Given the description of an element on the screen output the (x, y) to click on. 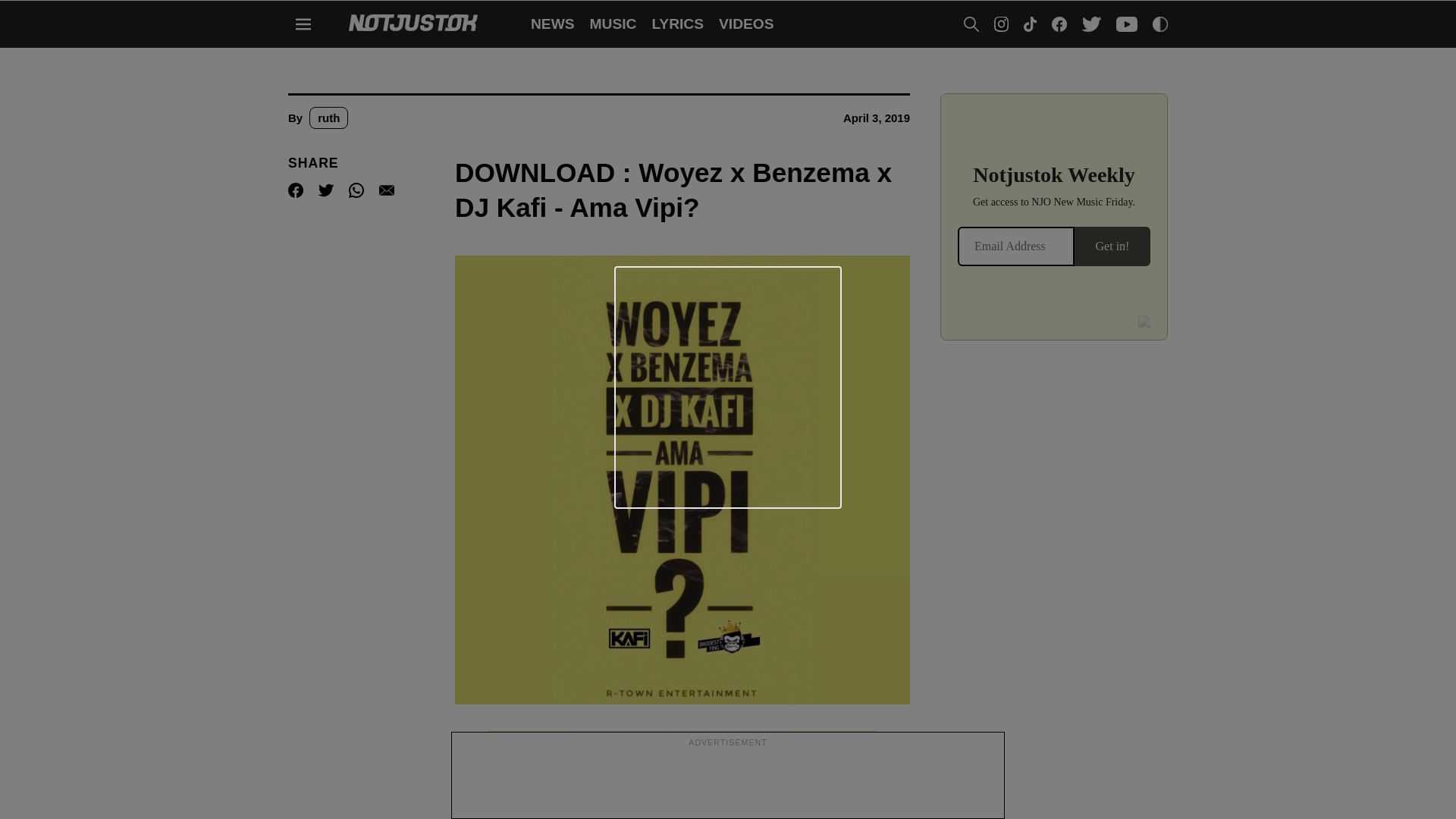
LYRICS (676, 23)
NEWS (553, 23)
Posts by ruth (327, 117)
ruth (327, 117)
MUSIC (613, 23)
VIDEOS (746, 23)
